Given the description of an element on the screen output the (x, y) to click on. 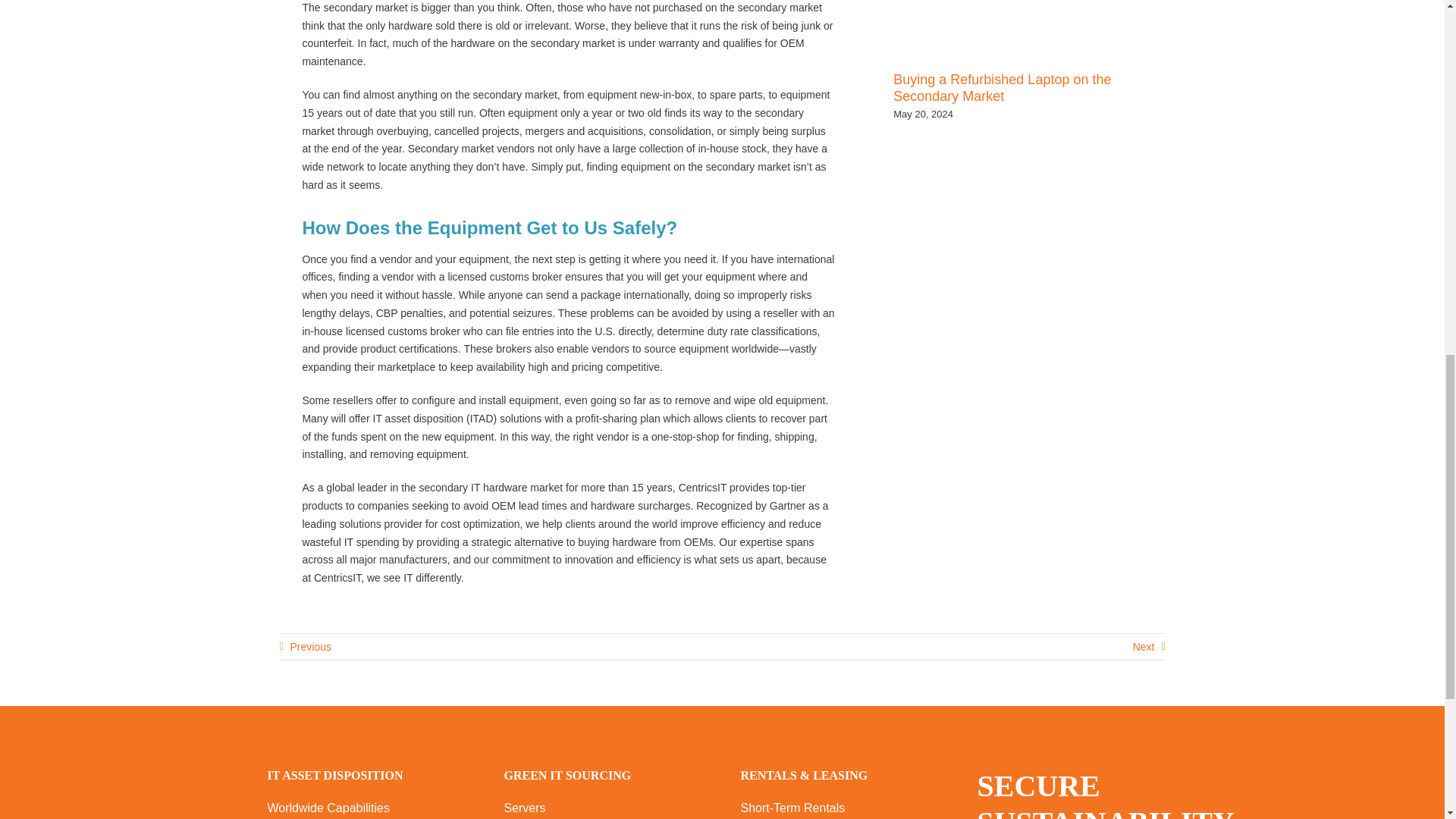
Buying a Refurbished Laptop on the Secondary Market (1001, 88)
